Given the description of an element on the screen output the (x, y) to click on. 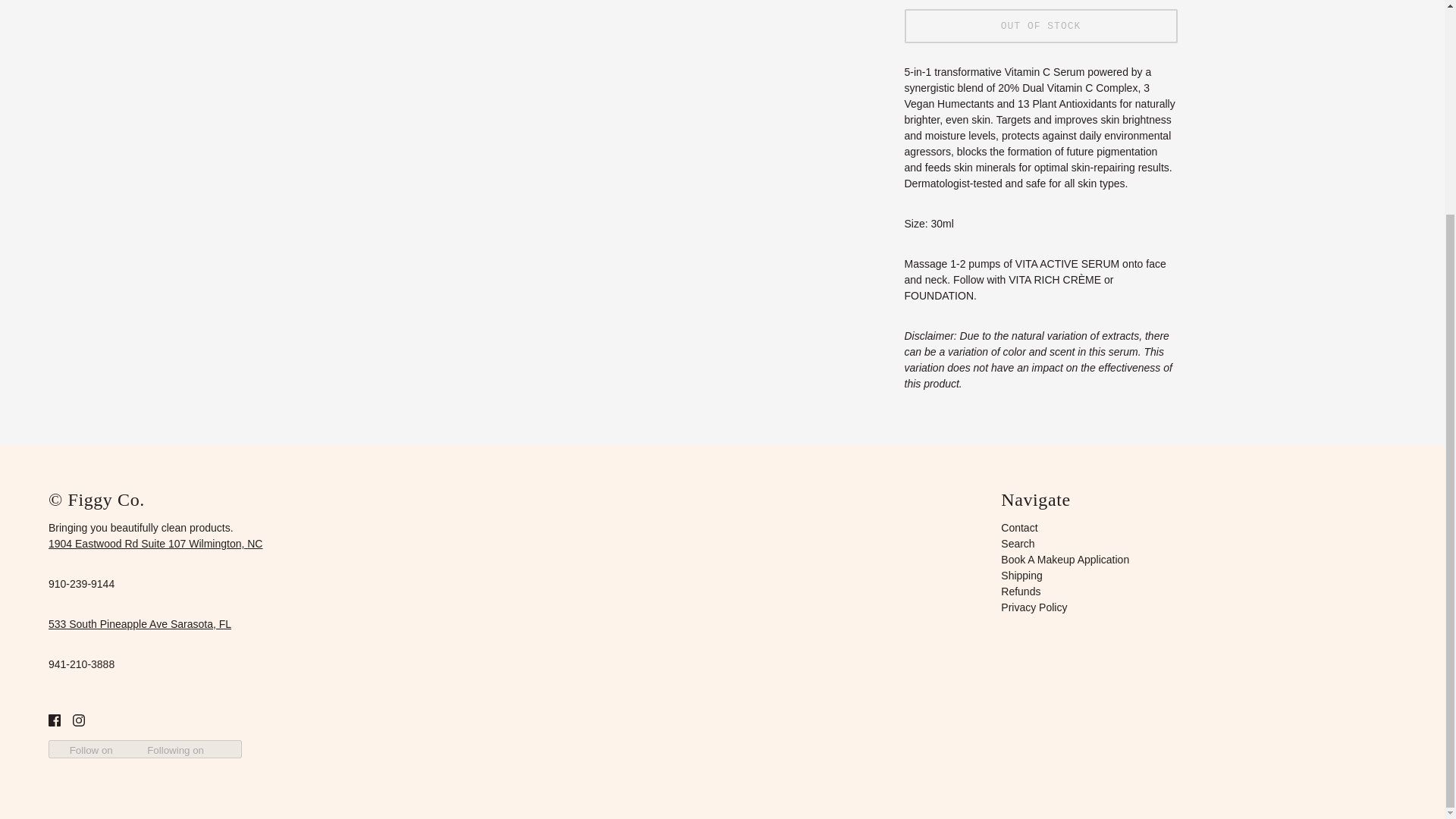
Shipping (1021, 575)
Book A Makeup Application (1065, 559)
Contact (1018, 527)
Refunds (1021, 591)
Privacy Policy (1034, 607)
